Given the description of an element on the screen output the (x, y) to click on. 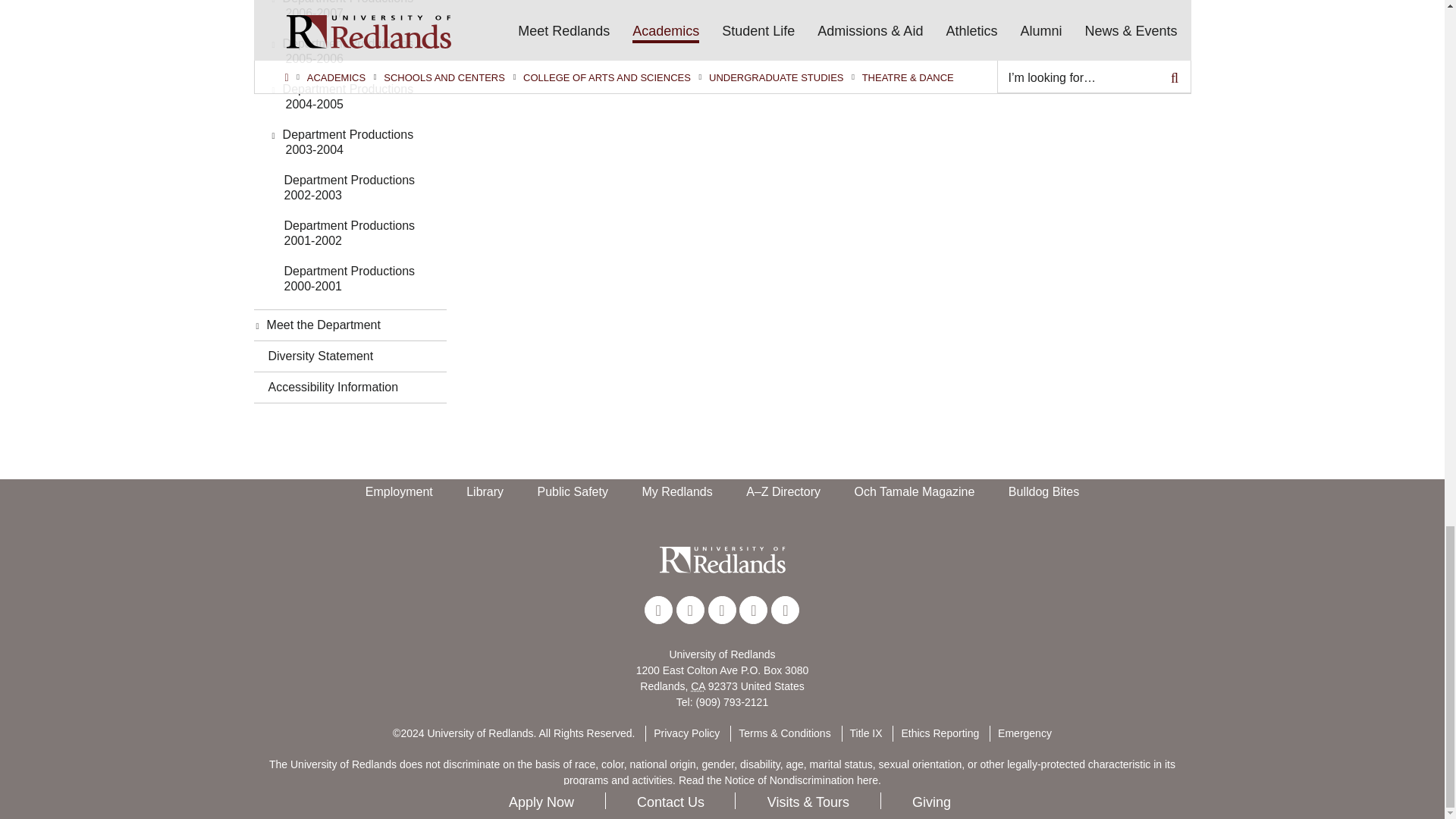
California (697, 686)
